Given the description of an element on the screen output the (x, y) to click on. 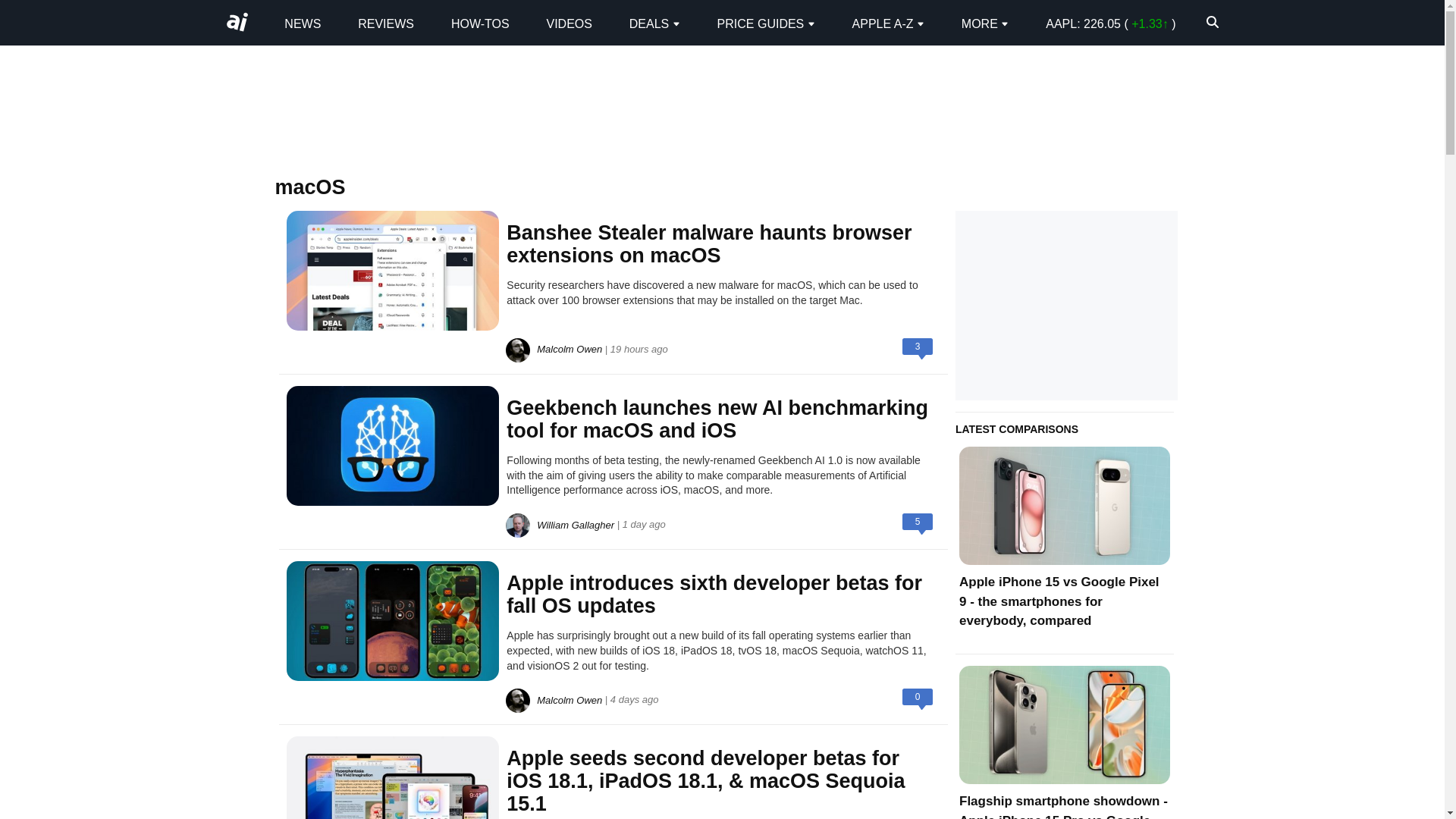
Reviews (385, 23)
How-Tos (480, 23)
Videos (568, 23)
NEWS (301, 23)
VIDEOS (568, 23)
REVIEWS (385, 23)
HOW-TOS (480, 23)
News (301, 23)
